Given the description of an element on the screen output the (x, y) to click on. 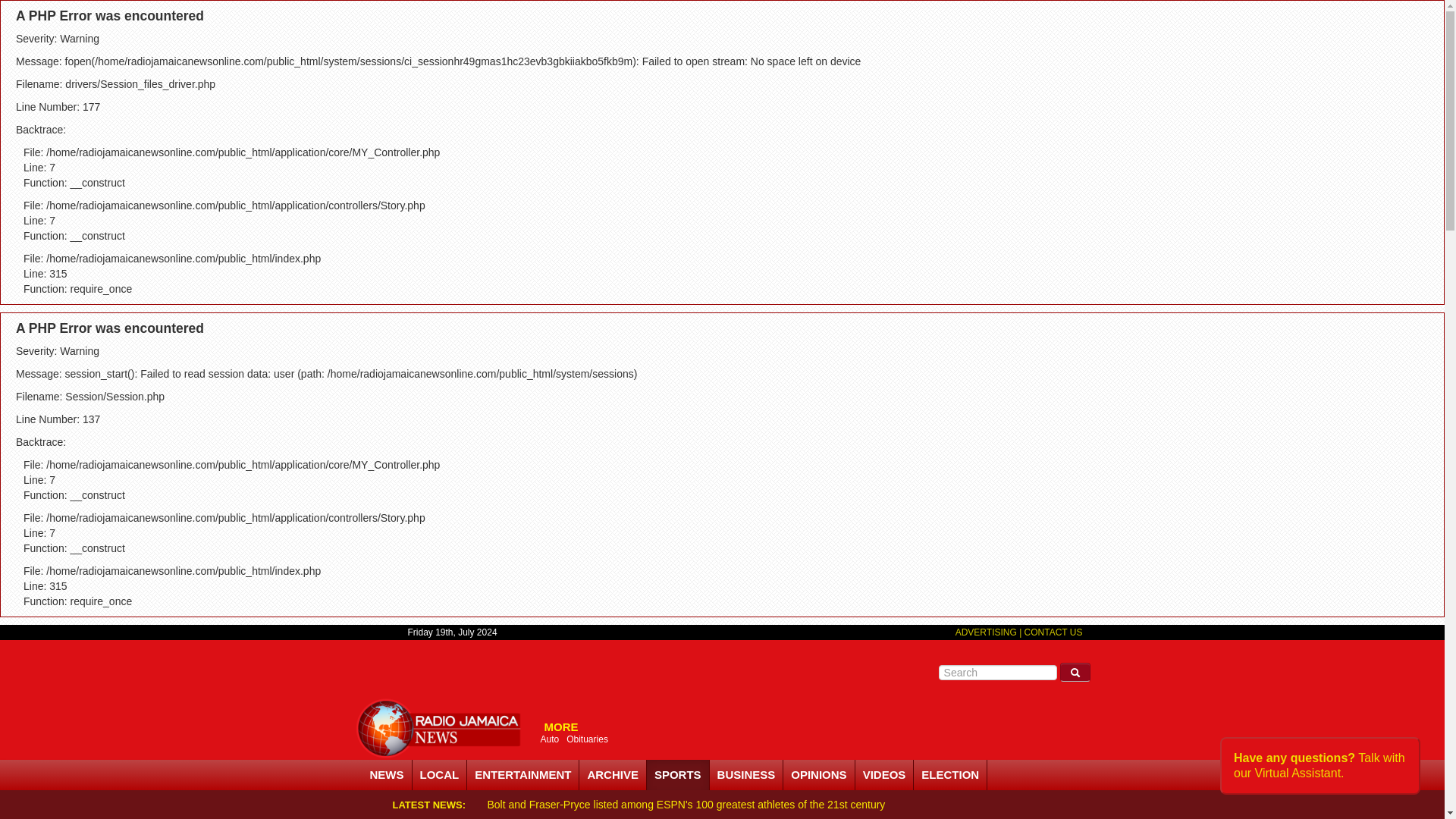
SPORTS (678, 775)
LOCAL (439, 775)
ELECTION (950, 775)
Obituaries (587, 738)
ADVERTISING (987, 632)
ARCHIVE (612, 775)
Auto (549, 738)
BUSINESS (747, 775)
ENTERTAINMENT (523, 775)
NEWS (387, 775)
VIDEOS (885, 775)
OPINIONS (818, 775)
CONTACT US (1054, 632)
